Given the description of an element on the screen output the (x, y) to click on. 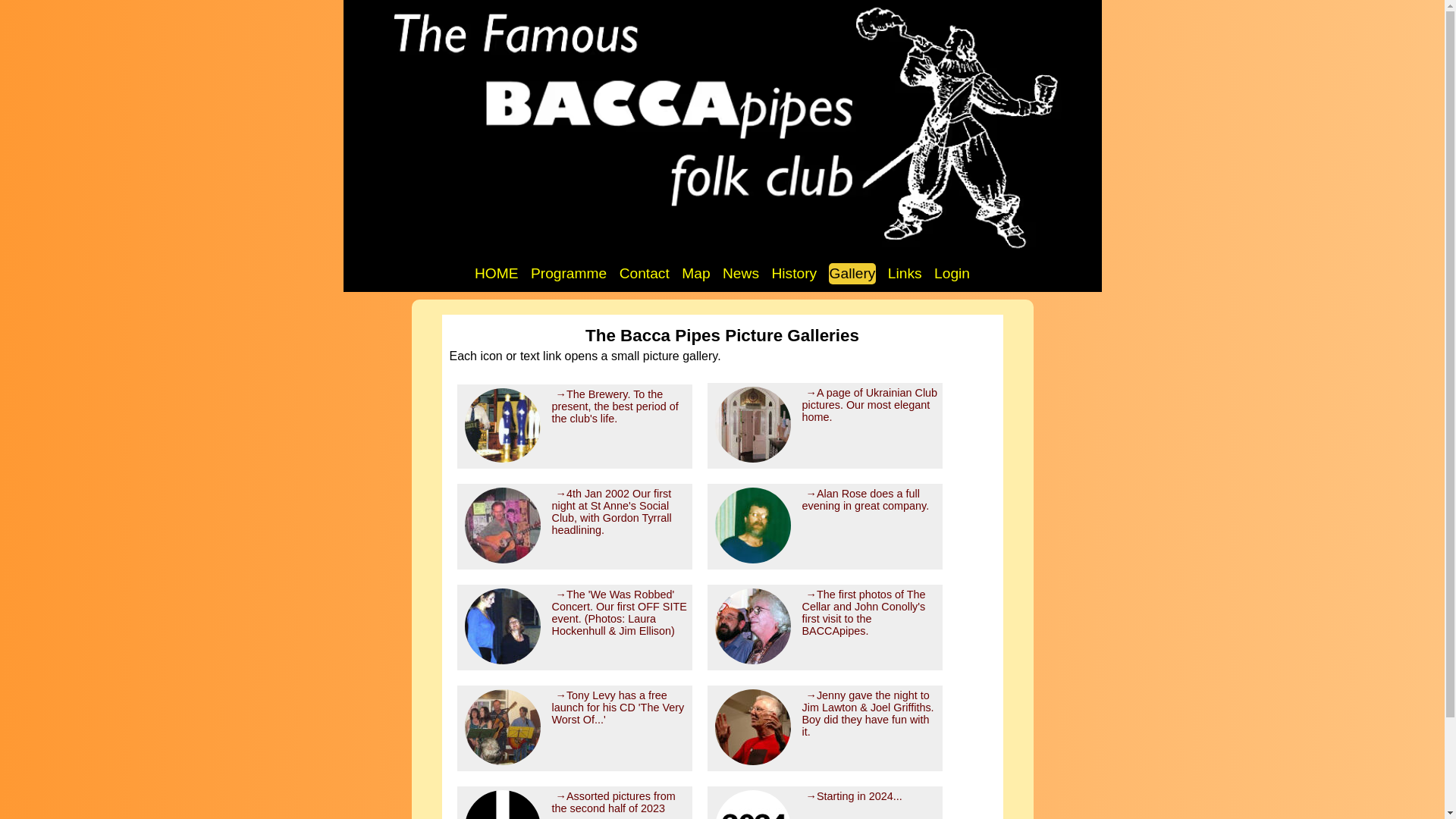
HOME (496, 273)
Gallery (852, 273)
Programme (568, 273)
Map (695, 273)
Contact (643, 273)
Links (904, 273)
History (793, 273)
Login (952, 273)
News (741, 273)
